Given the description of an element on the screen output the (x, y) to click on. 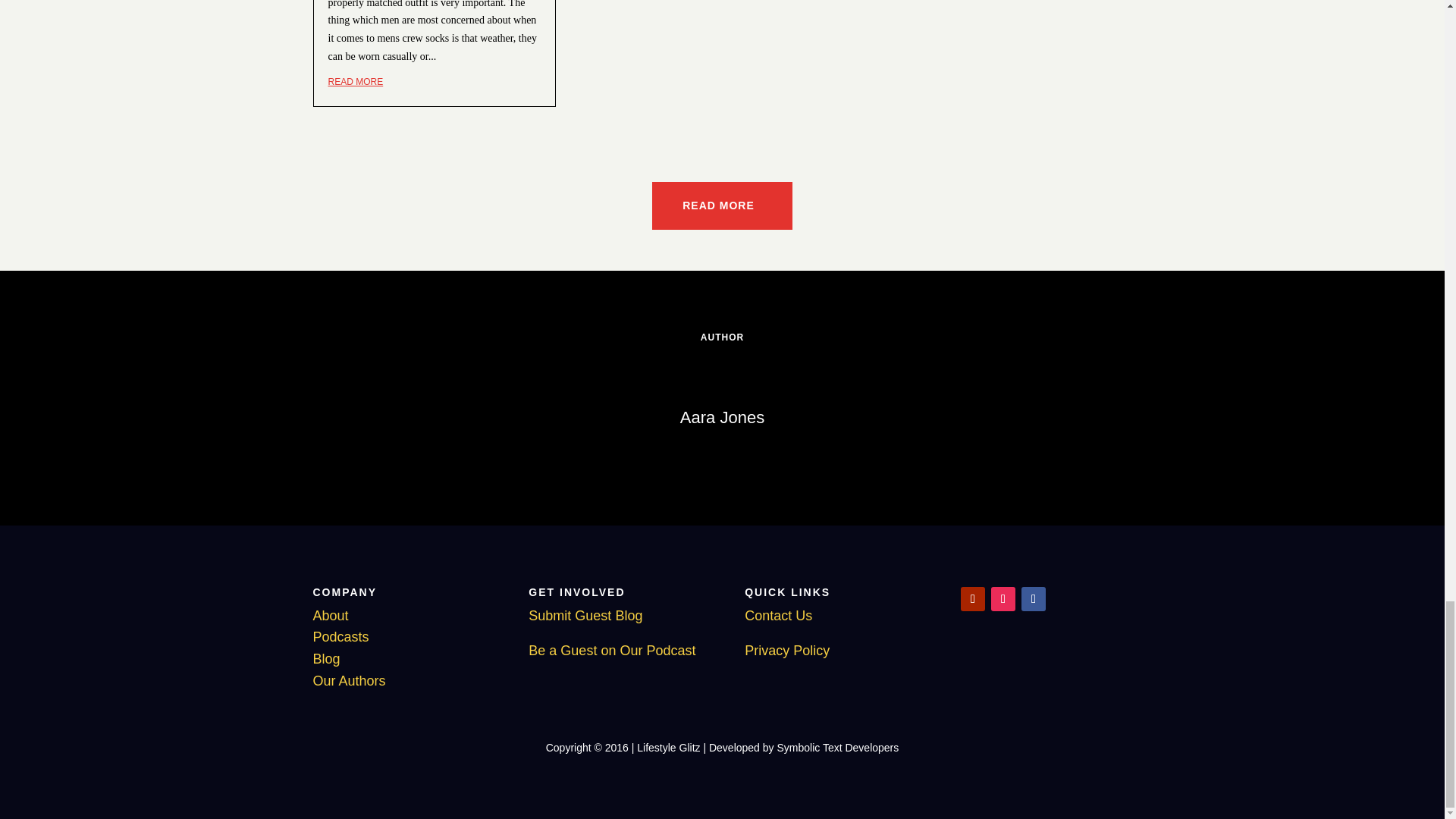
Follow on Instagram (1002, 598)
Follow on Facebook (1033, 598)
Follow on Youtube (972, 598)
